Given the description of an element on the screen output the (x, y) to click on. 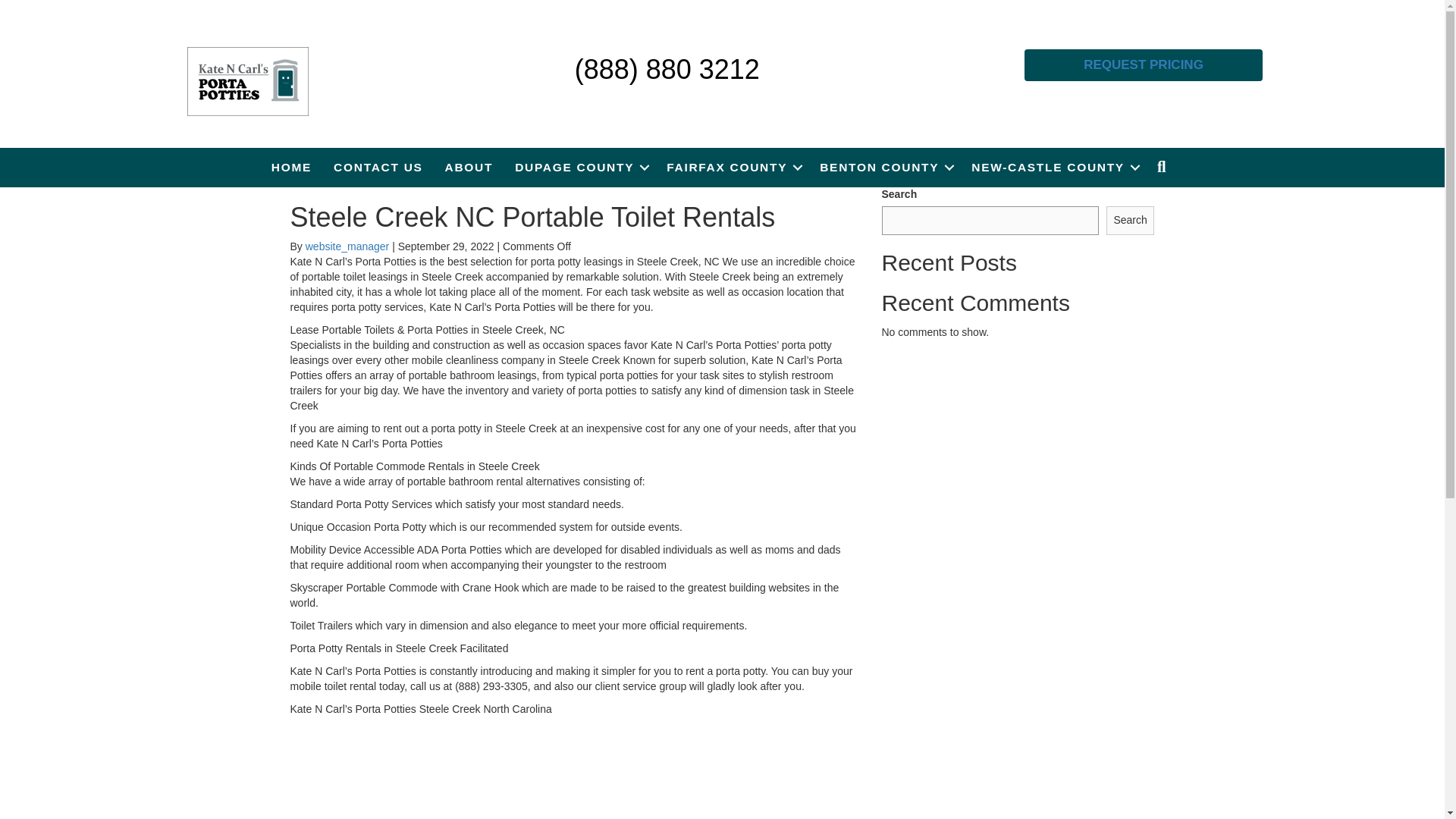
Kate-N-Carls-Porta-Potties (248, 81)
DUPAGE COUNTY (579, 167)
CONTACT US (377, 167)
Skip to content (34, 6)
HOME (290, 167)
FAIRFAX COUNTY (732, 167)
REQUEST PRICING (1144, 65)
ABOUT (468, 167)
BENTON COUNTY (884, 167)
NEW-CASTLE COUNTY (1052, 167)
